Given the description of an element on the screen output the (x, y) to click on. 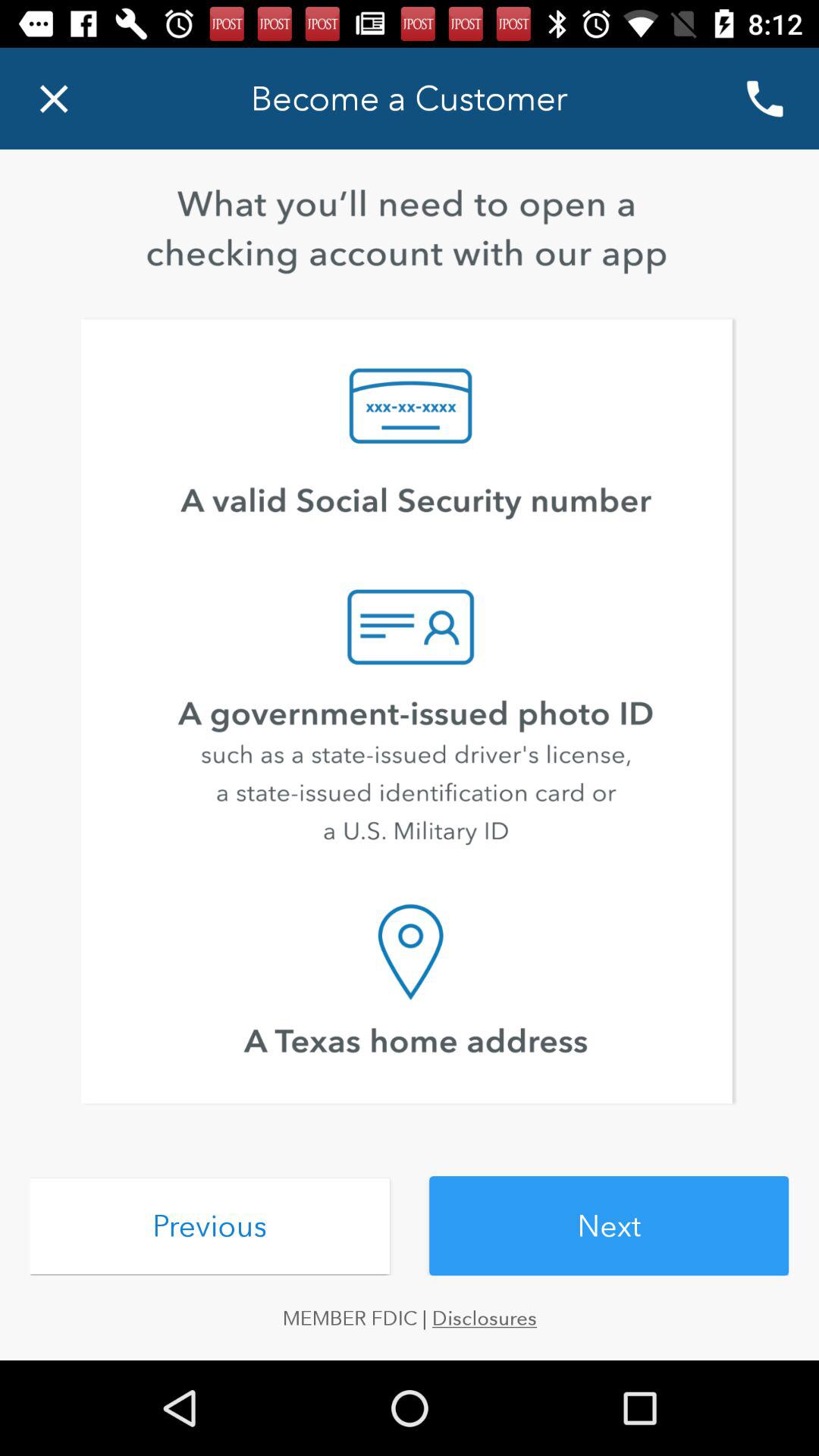
open the icon below next item (409, 1317)
